Given the description of an element on the screen output the (x, y) to click on. 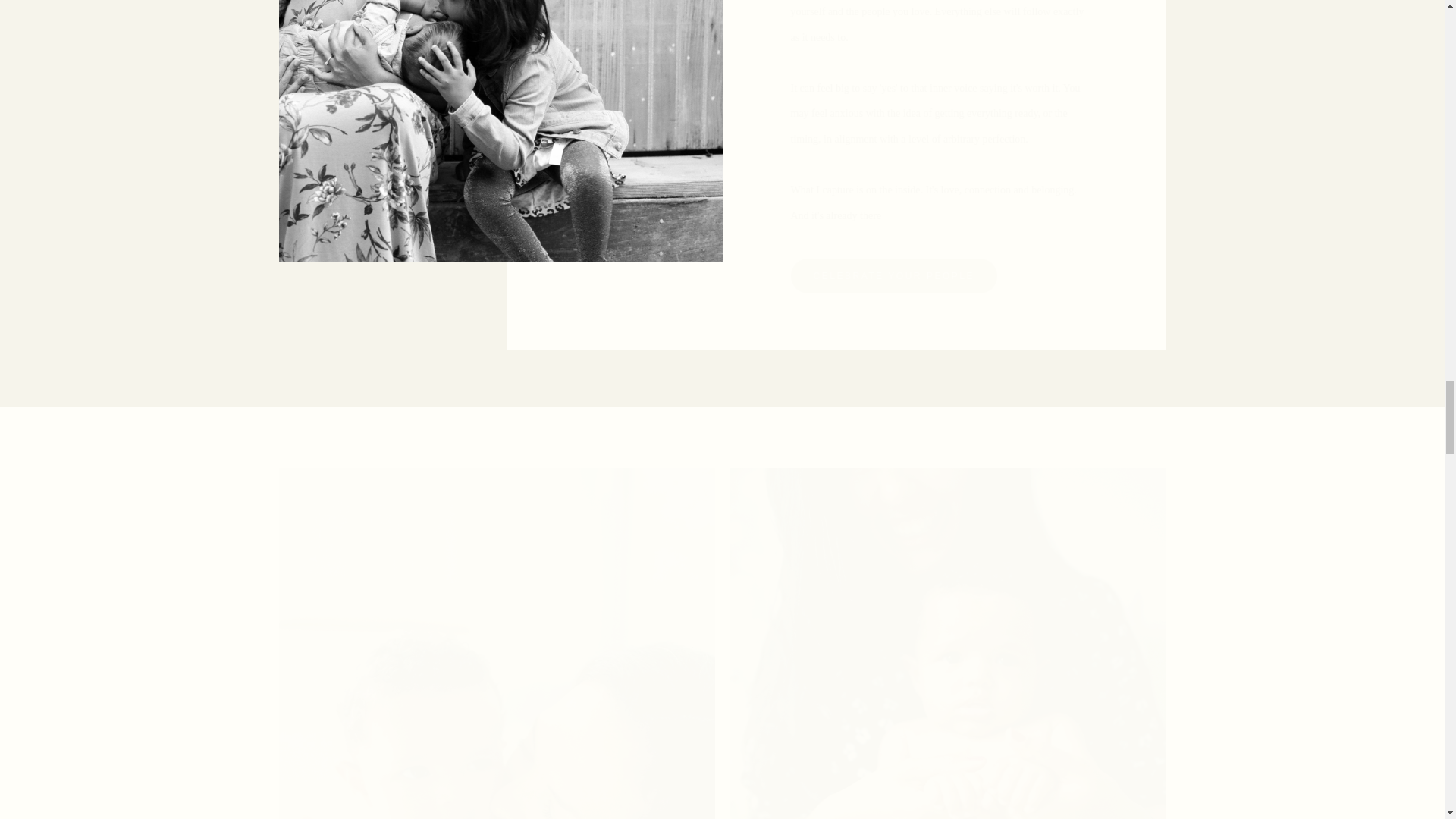
CELEBRATE YOUR PEOPLE (893, 275)
